Given the description of an element on the screen output the (x, y) to click on. 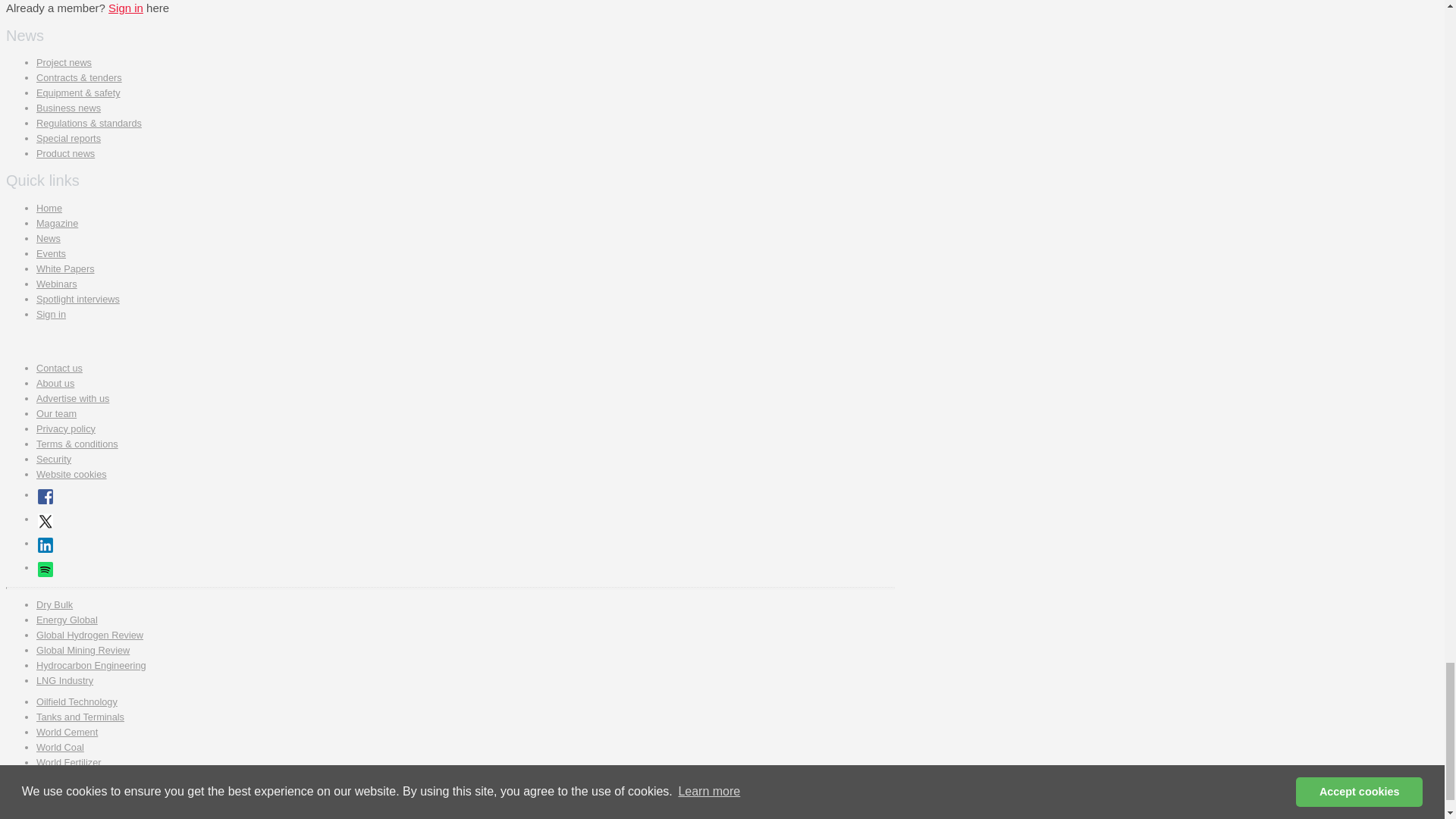
Sign in (124, 7)
Project news (63, 61)
